Given the description of an element on the screen output the (x, y) to click on. 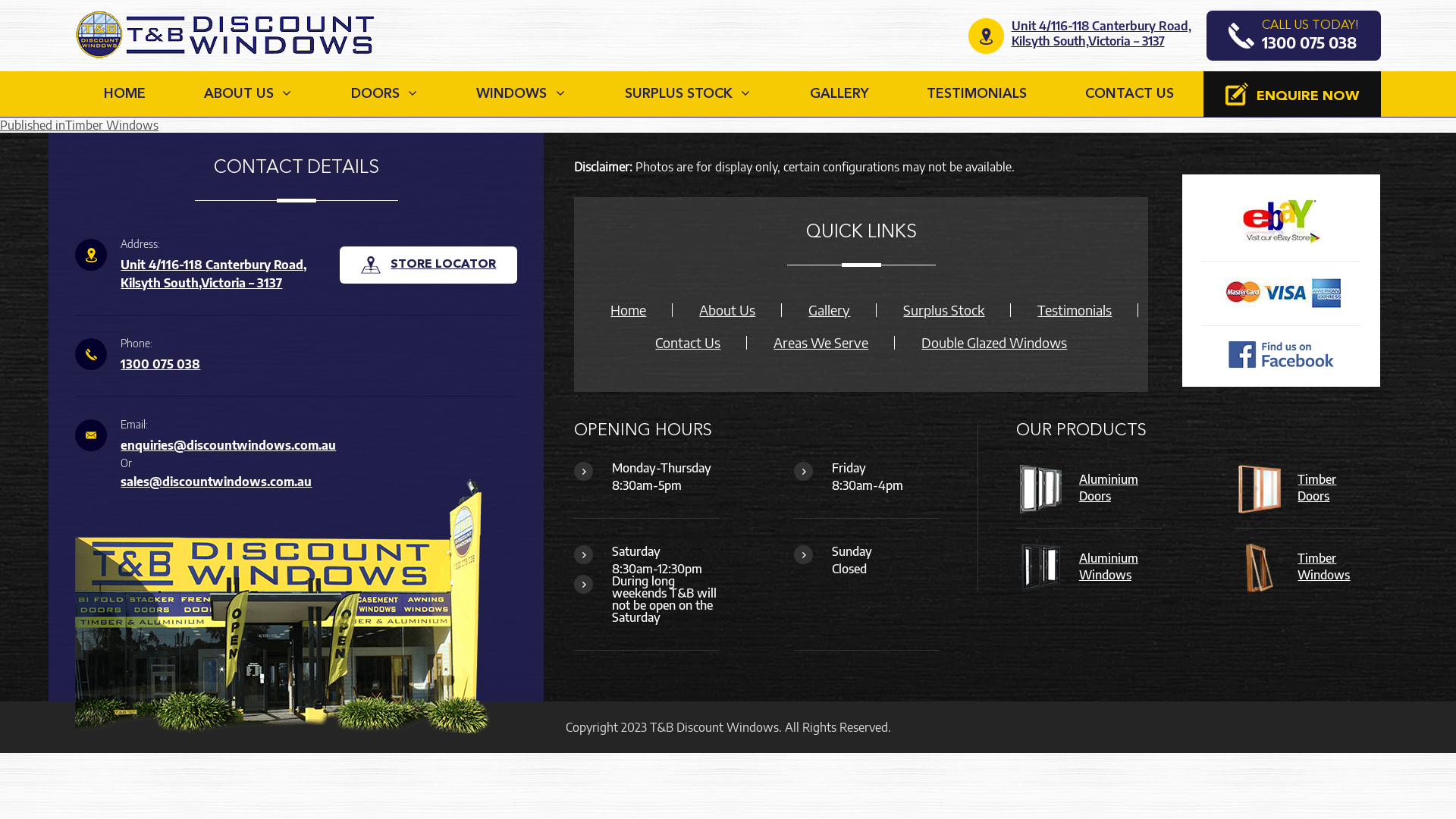
ABOUT US Element type: text (247, 93)
ENQUIRE NOW Element type: text (1291, 93)
Home Element type: text (627, 309)
Previous Image Element type: text (40, 7)
Areas We Serve Element type: text (820, 342)
TESTIMONIALS Element type: text (976, 93)
CALL US TODAY!
1300 075 038 Element type: text (1292, 35)
STORE LOCATOR Element type: text (428, 264)
February 20, 2018June 23, 2020 Element type: text (83, 109)
Timber
Windows Element type: text (1316, 566)
WINDOWS Element type: text (521, 93)
Published inTimber Windows Element type: text (79, 124)
SURPLUS STOCK Element type: text (688, 93)
Testimonials Element type: text (1074, 309)
Timber
Doors Element type: text (1309, 487)
HOME Element type: text (125, 93)
Aluminium
Doors Element type: text (1101, 487)
sales@discountwindows.com.au Element type: text (215, 481)
enquiries@discountwindows.com.au Element type: text (227, 444)
Aluminium
Windows Element type: text (1101, 566)
Gallery Element type: text (828, 309)
Surplus Stock Element type: text (943, 309)
About Us Element type: text (726, 309)
CONTACT US Element type: text (1129, 93)
GALLERY Element type: text (839, 93)
Next Image Element type: text (30, 22)
Double Glazed Windows Element type: text (993, 342)
Contact Us Element type: text (687, 342)
DOORS Element type: text (384, 93)
1300 075 038 Element type: text (160, 363)
